Given the description of an element on the screen output the (x, y) to click on. 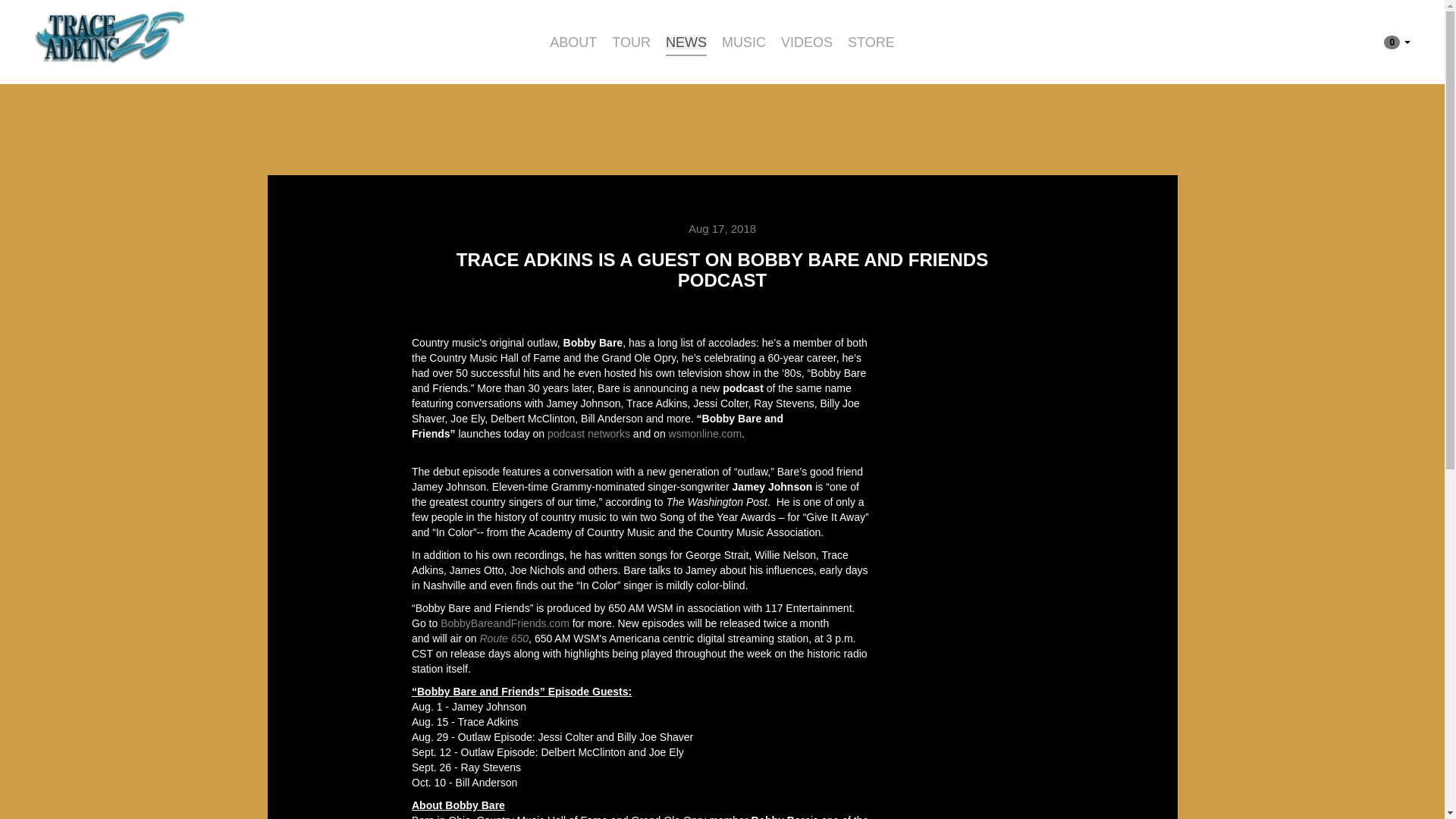
MUSIC (743, 42)
0 (1397, 41)
TOUR (630, 42)
ABOUT (573, 42)
NEWS (685, 42)
TOUR (630, 42)
VIDEOS (806, 42)
wsmonline.com (704, 433)
VIDEOS (806, 42)
STORE (871, 42)
ABOUT (573, 42)
Route 650 (503, 638)
NEWS (685, 42)
BobbyBareandFriends.com (505, 623)
STORE (871, 42)
